Given the description of an element on the screen output the (x, y) to click on. 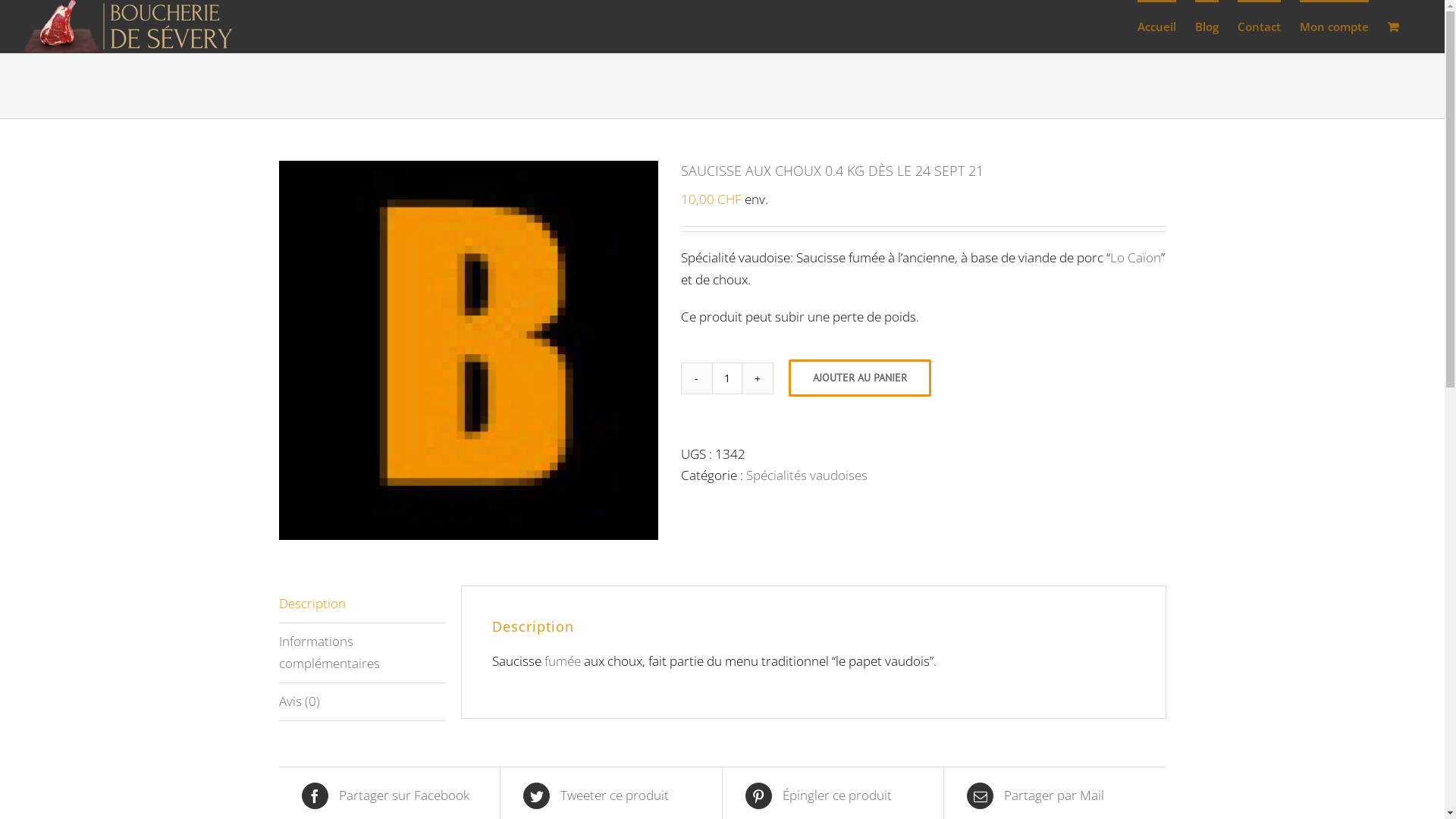
Mon compte Element type: text (1333, 26)
Partager par Mail Element type: text (1054, 795)
Description Element type: text (362, 604)
Avis (0) Element type: text (362, 702)
Tweeter ce produit Element type: text (611, 795)
Accueil Element type: text (1156, 26)
Partager sur Facebook Element type: text (389, 795)
Se connecter Element type: text (1380, 181)
cropped-facboucherie Element type: hover (468, 349)
AJOUTER AU PANIER Element type: text (859, 377)
Blog Element type: text (1206, 26)
Contact Element type: text (1258, 26)
